Given the description of an element on the screen output the (x, y) to click on. 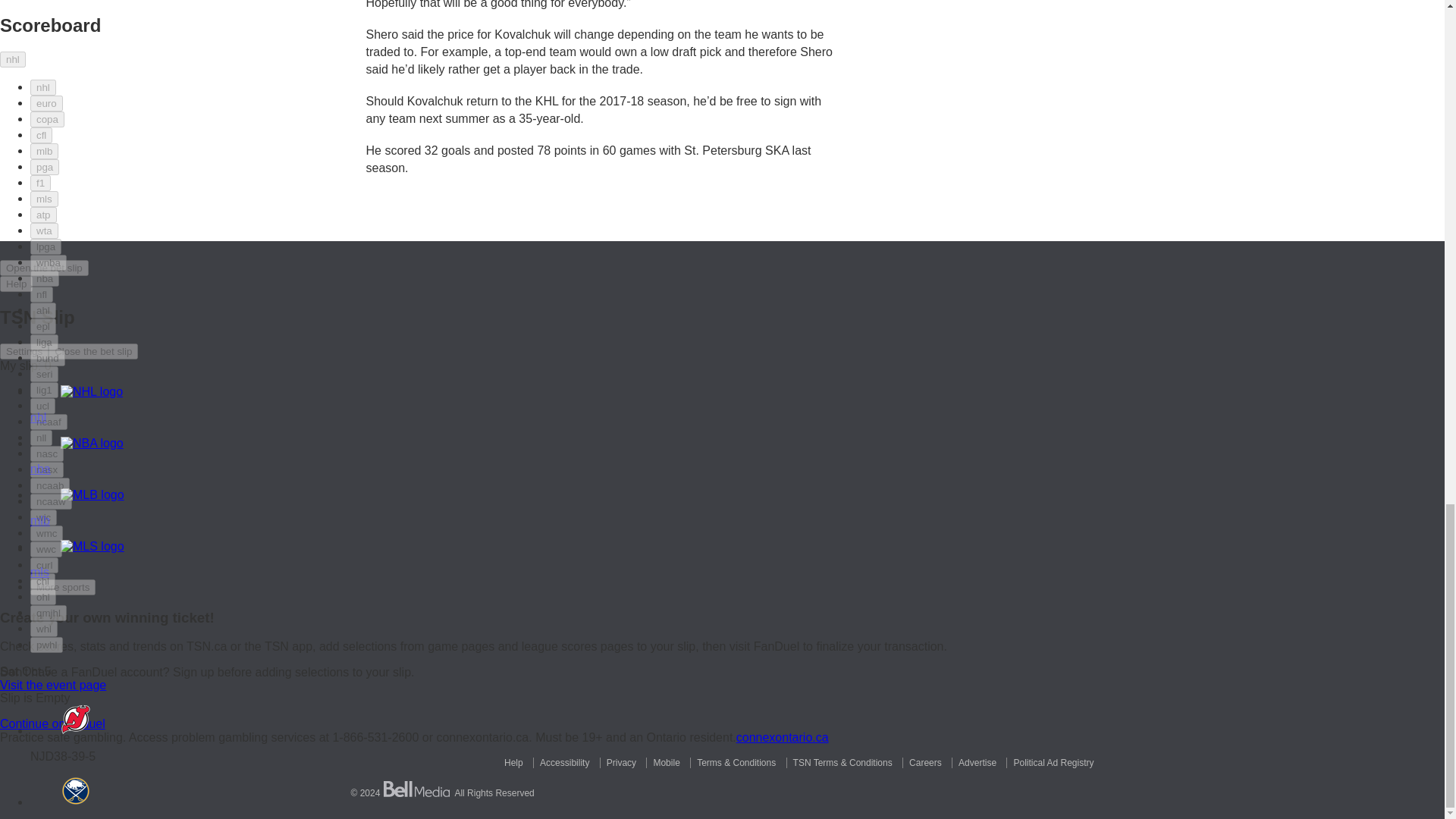
Bell Media (416, 788)
